Given the description of an element on the screen output the (x, y) to click on. 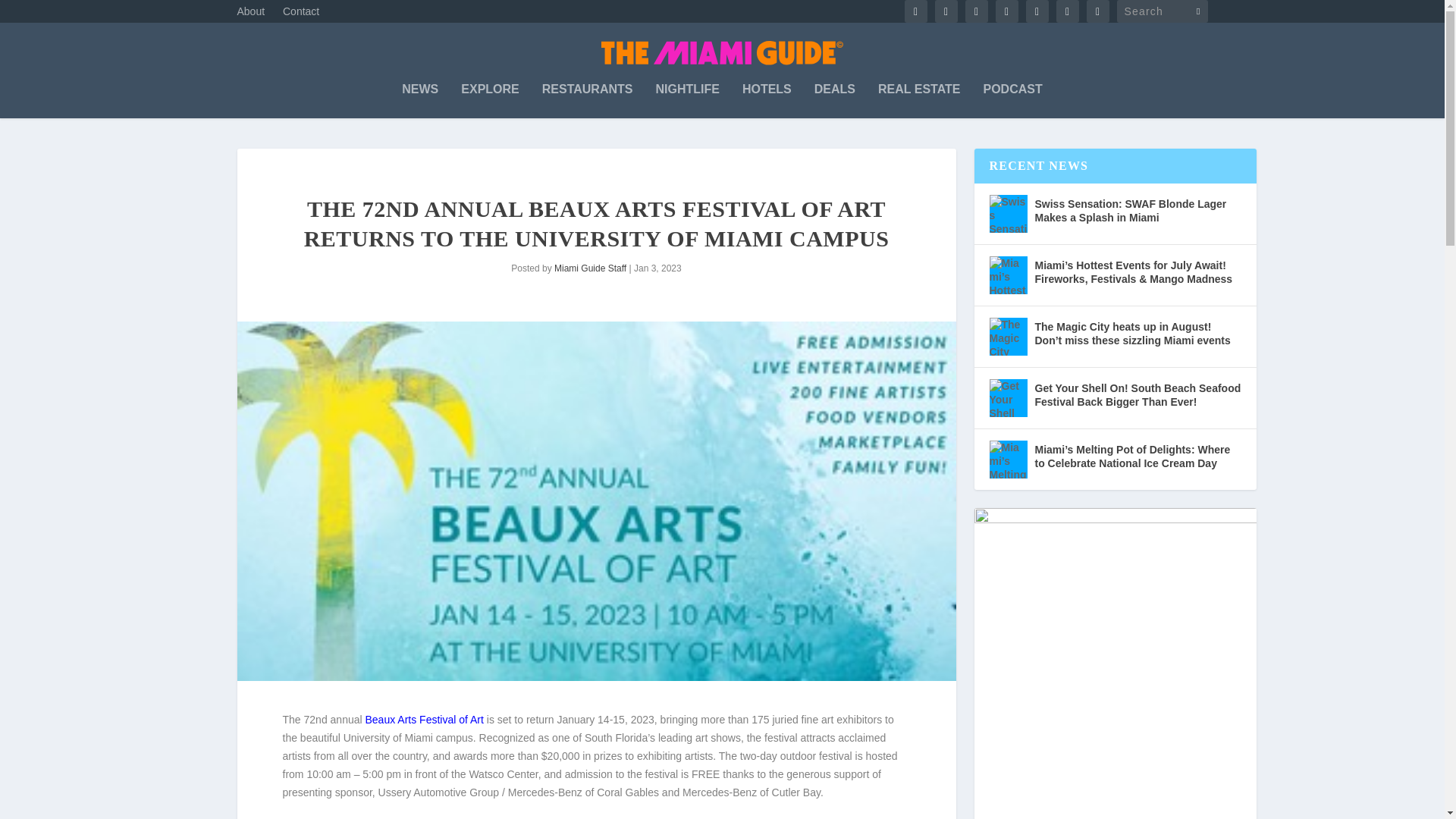
Search for: (1161, 11)
REAL ESTATE (918, 100)
About (249, 15)
Posts by Miami Guide Staff (590, 267)
Swiss Sensation: SWAF Blonde Lager Makes a Splash in Miami (1007, 213)
DEALS (834, 100)
NIGHTLIFE (687, 100)
NEWS (419, 100)
EXPLORE (489, 100)
Beaux Arts Festival of Art (424, 719)
PODCAST (1012, 100)
Swiss Sensation: SWAF Blonde Lager Makes a Splash in Miami (1136, 210)
Miami Guide Staff (590, 267)
